Given the description of an element on the screen output the (x, y) to click on. 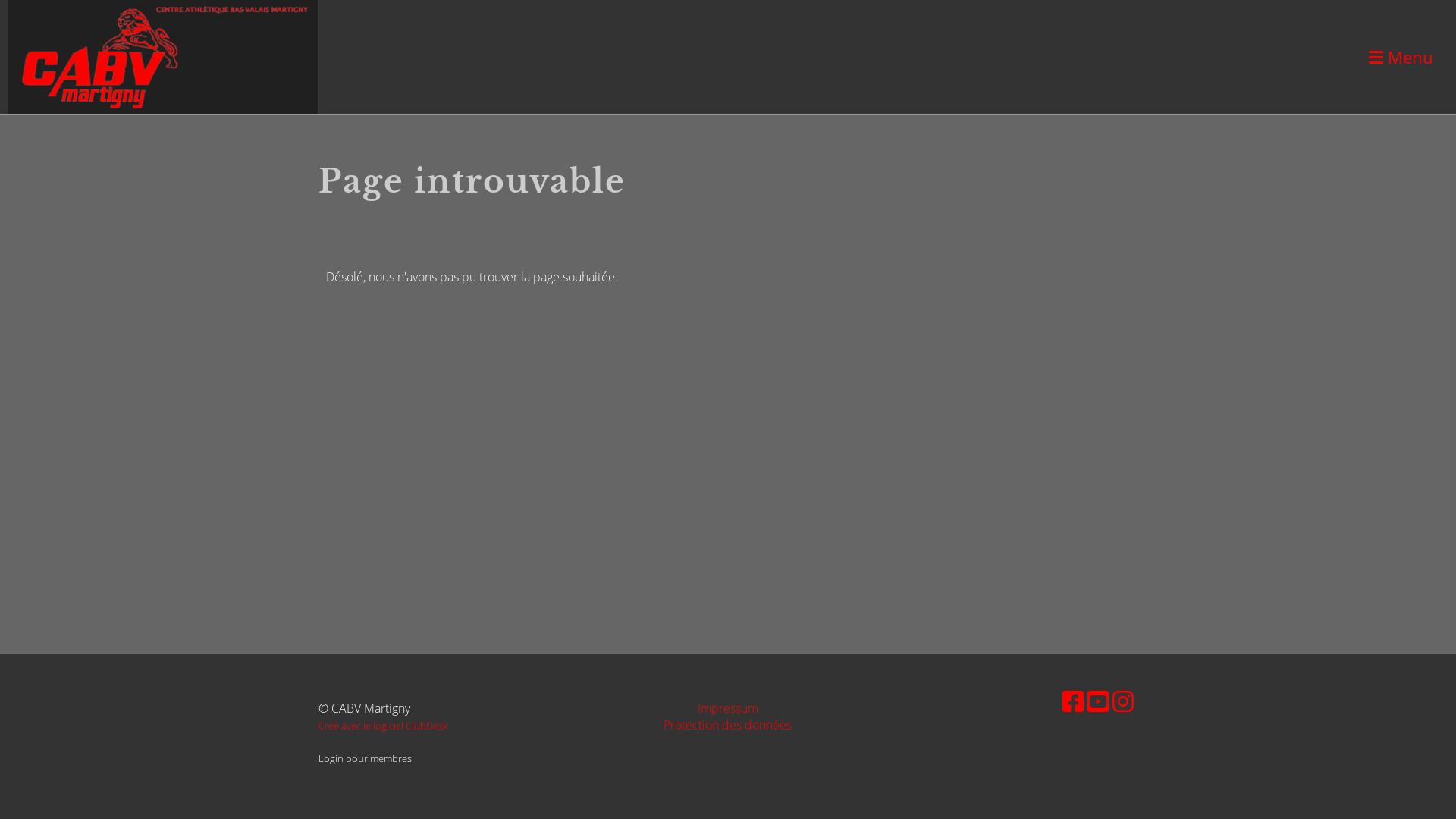
Menu Element type: text (1400, 57)
Impressum Element type: text (727, 707)
Login pour membres Element type: text (364, 757)
